Given the description of an element on the screen output the (x, y) to click on. 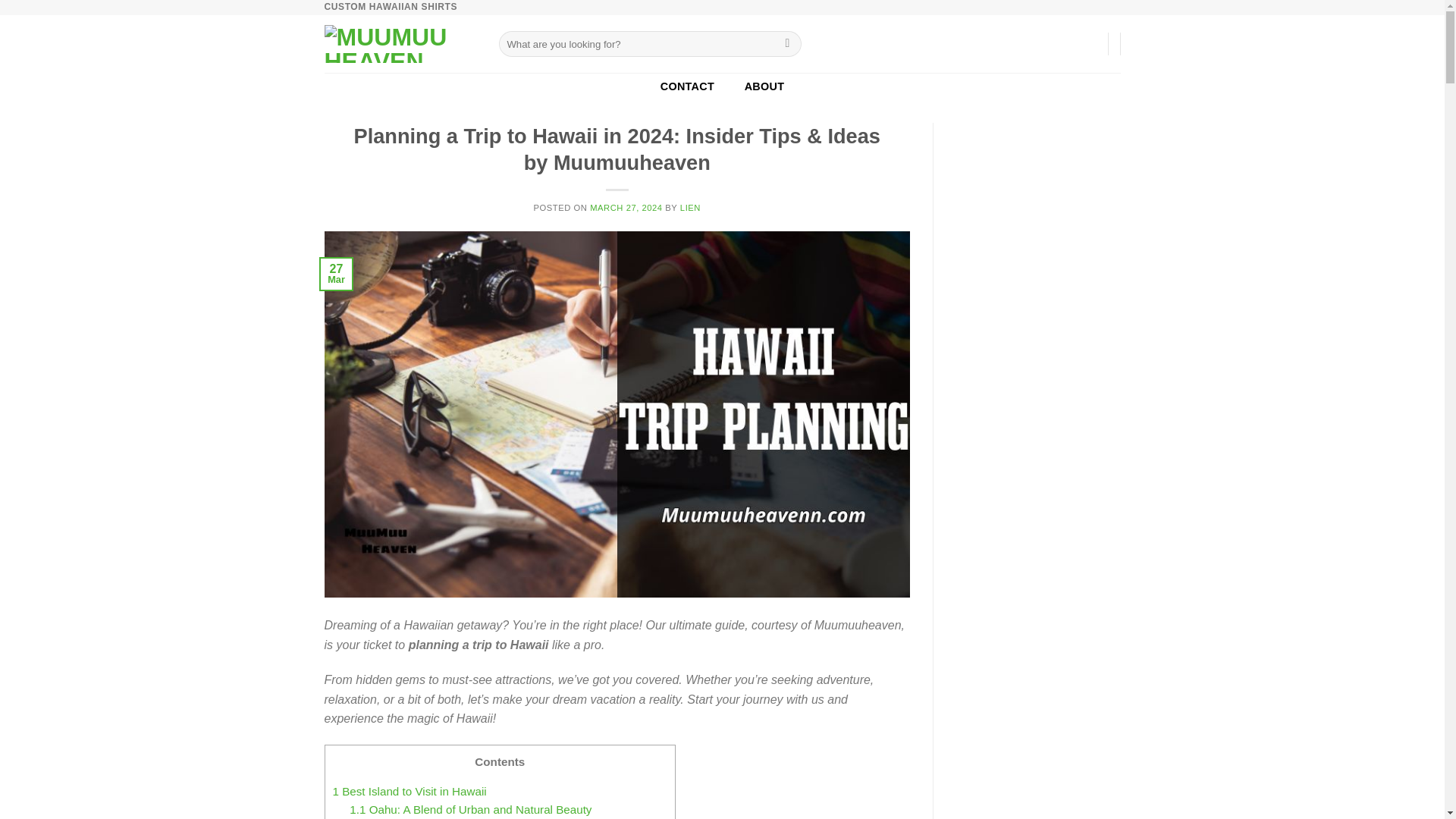
Muumuu Heaven (400, 44)
1.1 Oahu: A Blend of Urban and Natural Beauty (470, 809)
CONTACT (687, 85)
MARCH 27, 2024 (625, 207)
ABOUT (764, 85)
1 Best Island to Visit in Hawaii (408, 790)
LIEN (689, 207)
